Given the description of an element on the screen output the (x, y) to click on. 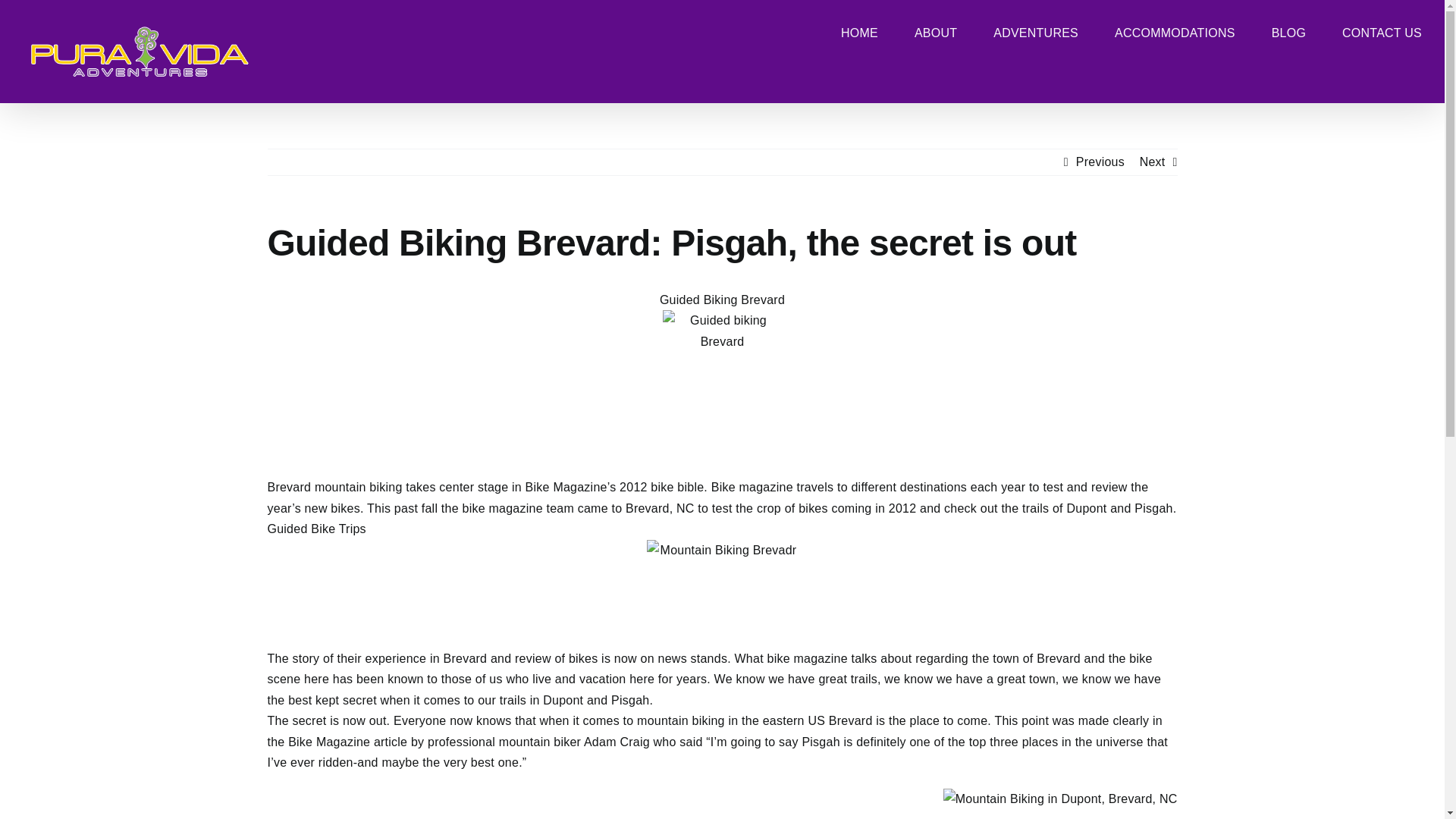
ACCOMMODATIONS (1174, 31)
ADVENTURES (1035, 31)
Mountain Biking in Brevard (721, 586)
Biking in Brevard (1060, 798)
CONTACT US (1382, 31)
